Given the description of an element on the screen output the (x, y) to click on. 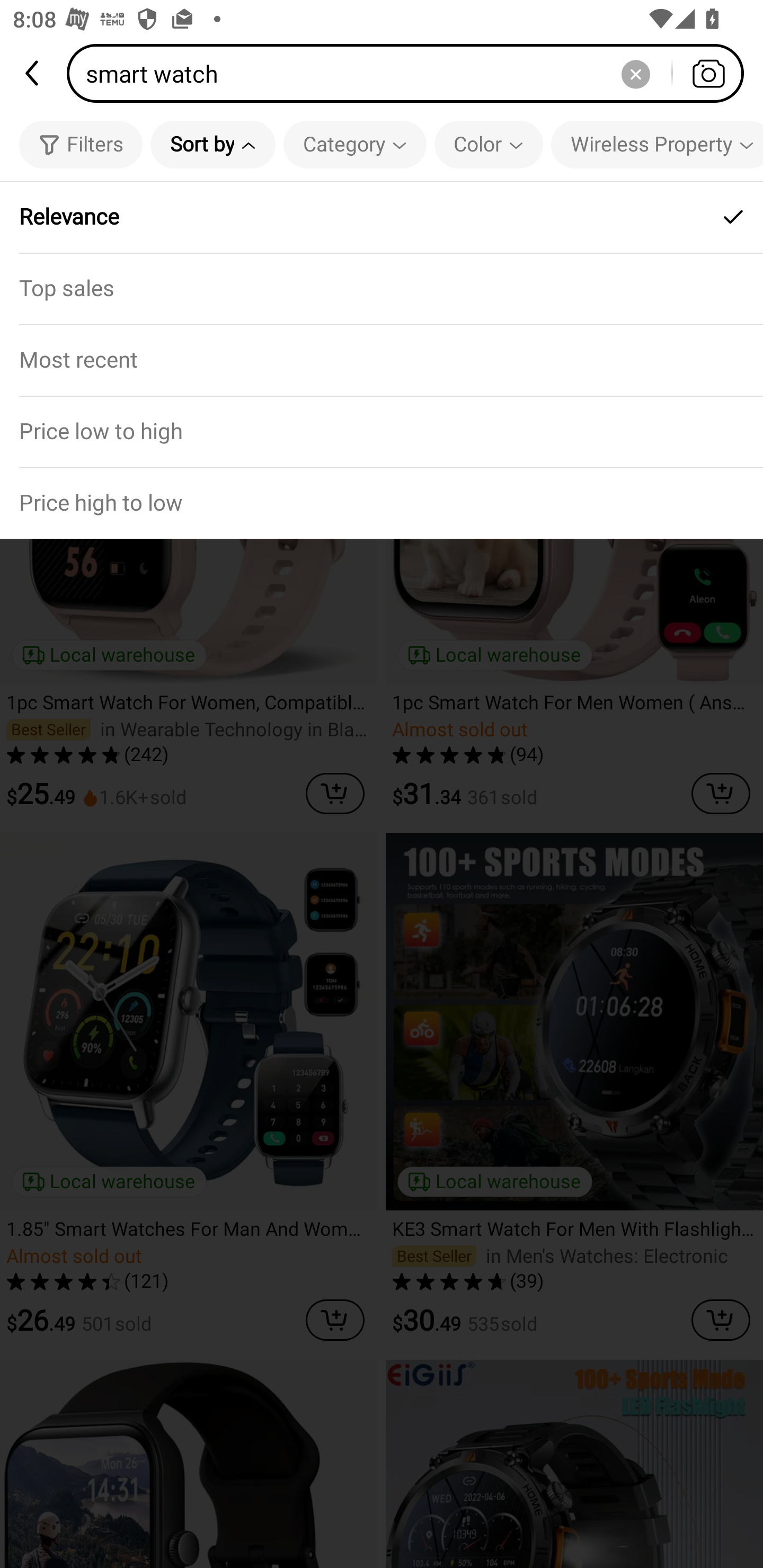
back (33, 72)
smart watch (411, 73)
Delete search history (635, 73)
Search by photo (708, 73)
Filters (80, 143)
Sort by (212, 143)
Category (354, 143)
Color (488, 143)
Wireless Property (656, 143)
Relevance (381, 216)
Top sales (381, 288)
Most recent (381, 359)
Price low to high (381, 431)
Price high to low (381, 503)
